Given the description of an element on the screen output the (x, y) to click on. 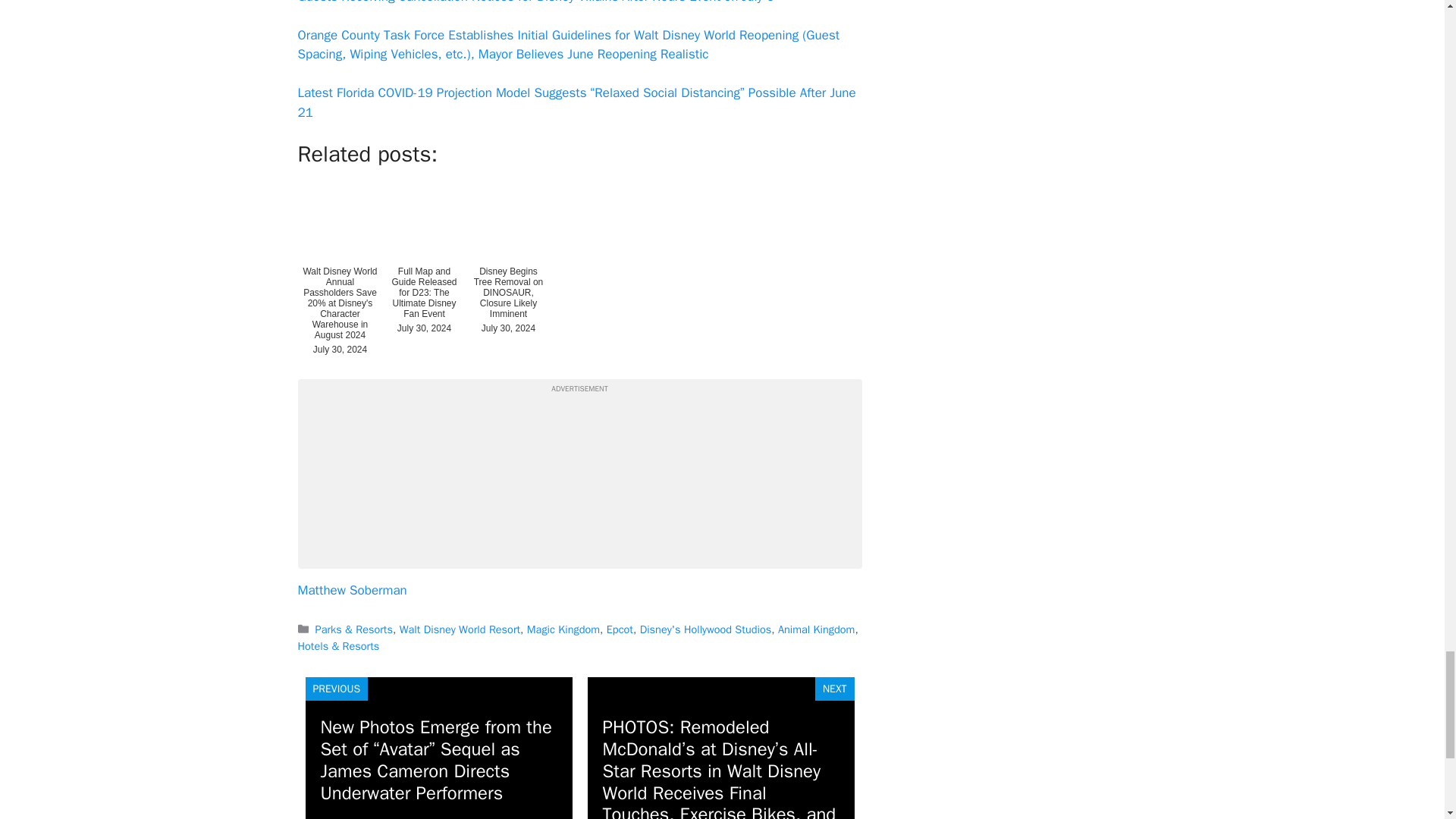
Matthew Soberman (351, 590)
